Given the description of an element on the screen output the (x, y) to click on. 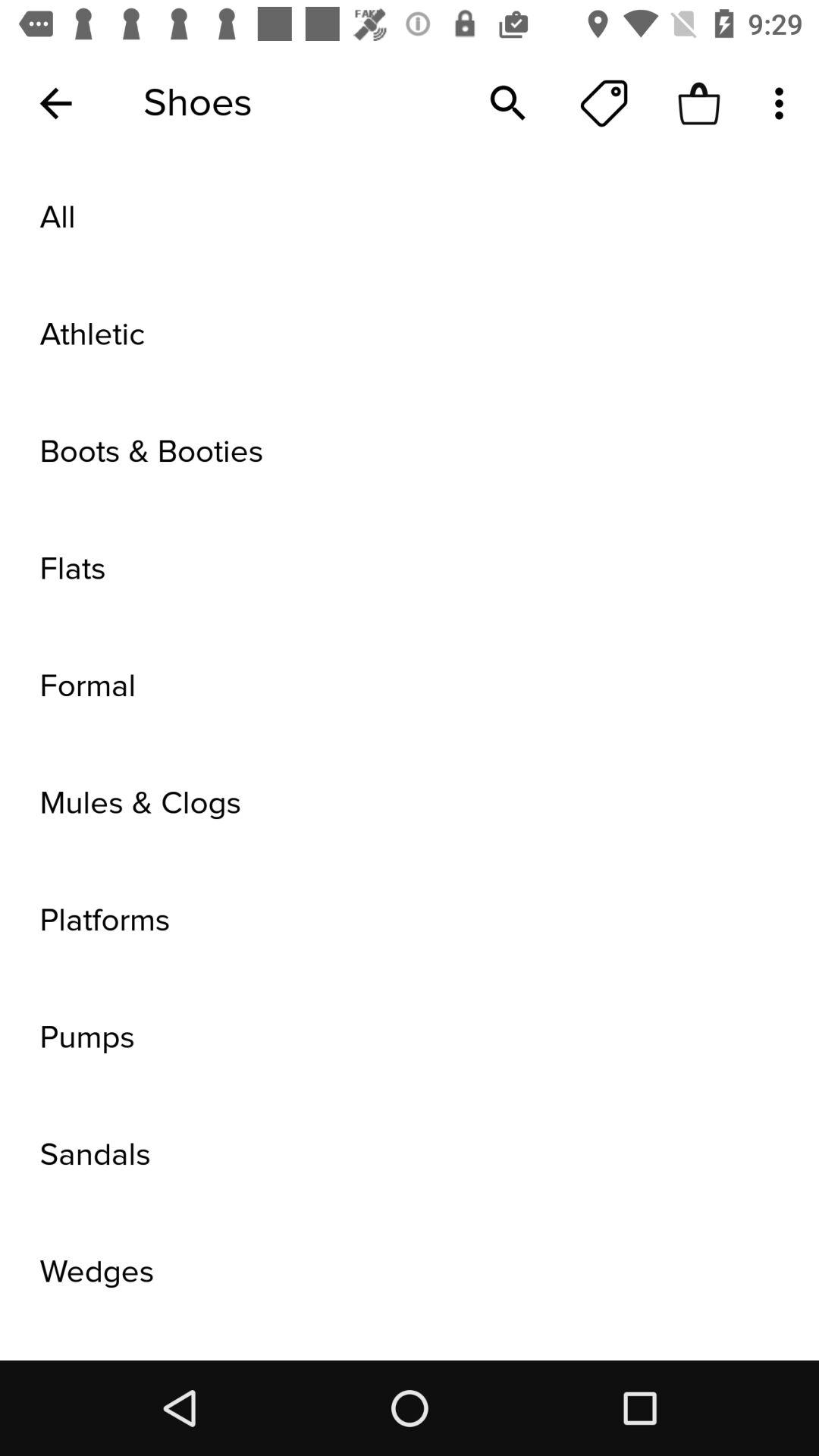
select boots & booties item (409, 451)
